Given the description of an element on the screen output the (x, y) to click on. 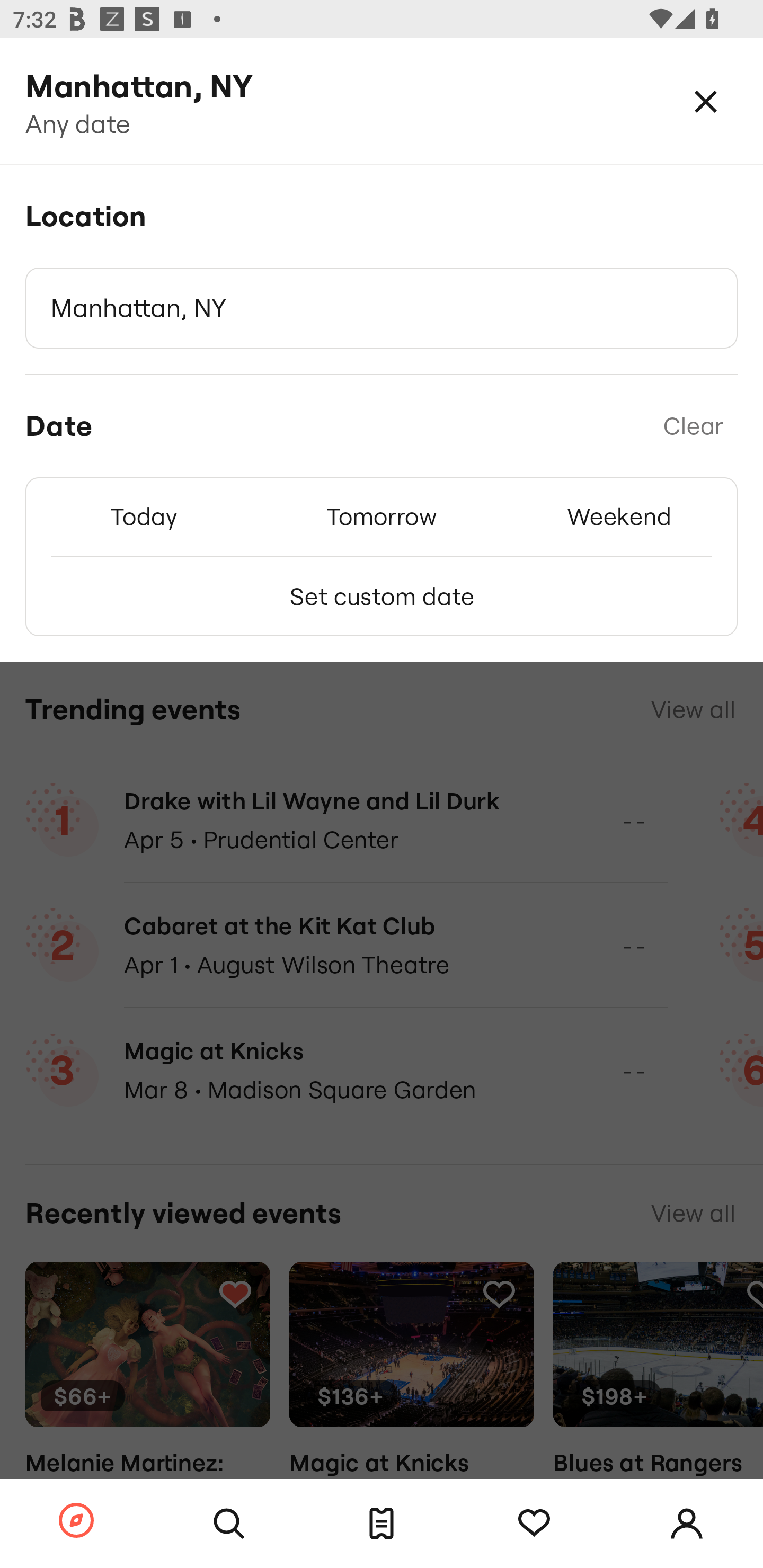
Close (705, 100)
Manhattan, NY (381, 308)
Clear (693, 426)
Today (143, 516)
Tomorrow (381, 516)
Weekend (618, 516)
Set custom date (381, 596)
Browse (76, 1521)
Search (228, 1523)
Tickets (381, 1523)
Tracking (533, 1523)
Account (686, 1523)
